Given the description of an element on the screen output the (x, y) to click on. 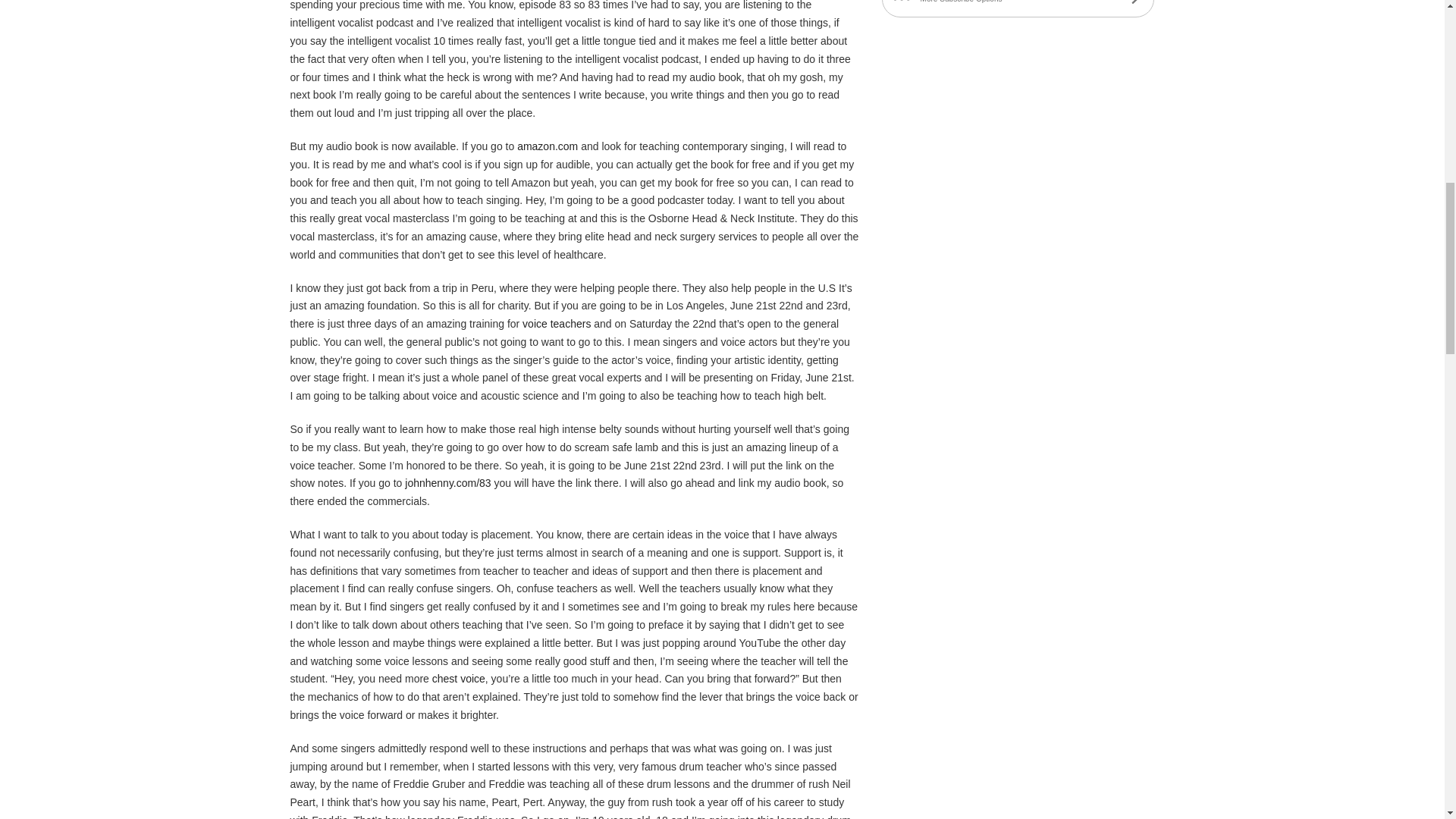
voice teachers (556, 323)
More Subscribe Options (1017, 8)
amazon.com (547, 146)
